Given the description of an element on the screen output the (x, y) to click on. 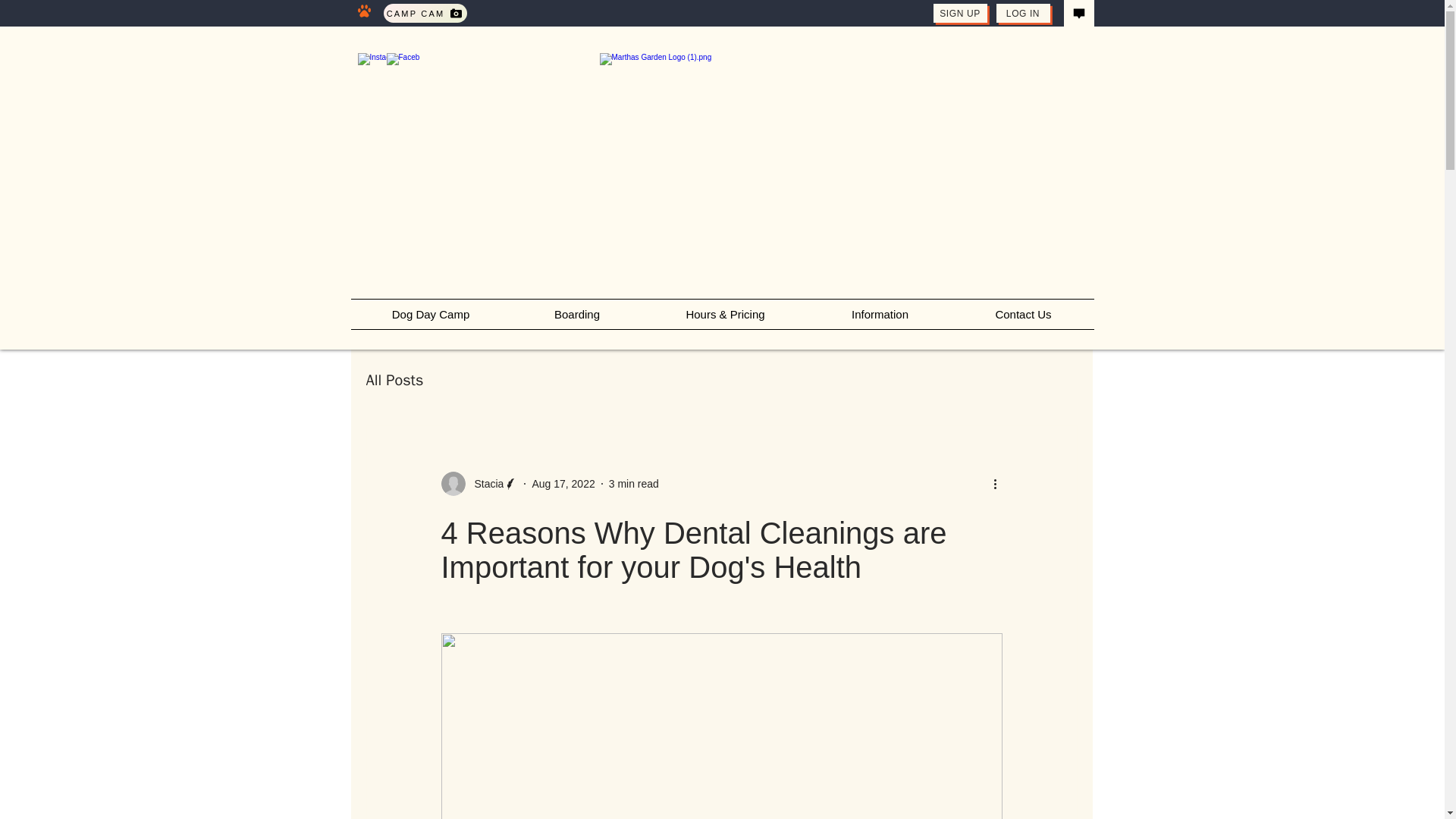
Contact Us (1022, 314)
LOG IN (1022, 13)
All Posts (394, 380)
Stacia (484, 483)
Boarding (577, 314)
Stacia (479, 483)
Aug 17, 2022 (562, 483)
CAMP CAM (425, 13)
SIGN UP (960, 13)
3 min read (633, 483)
Dog Day Camp (430, 314)
